Given the description of an element on the screen output the (x, y) to click on. 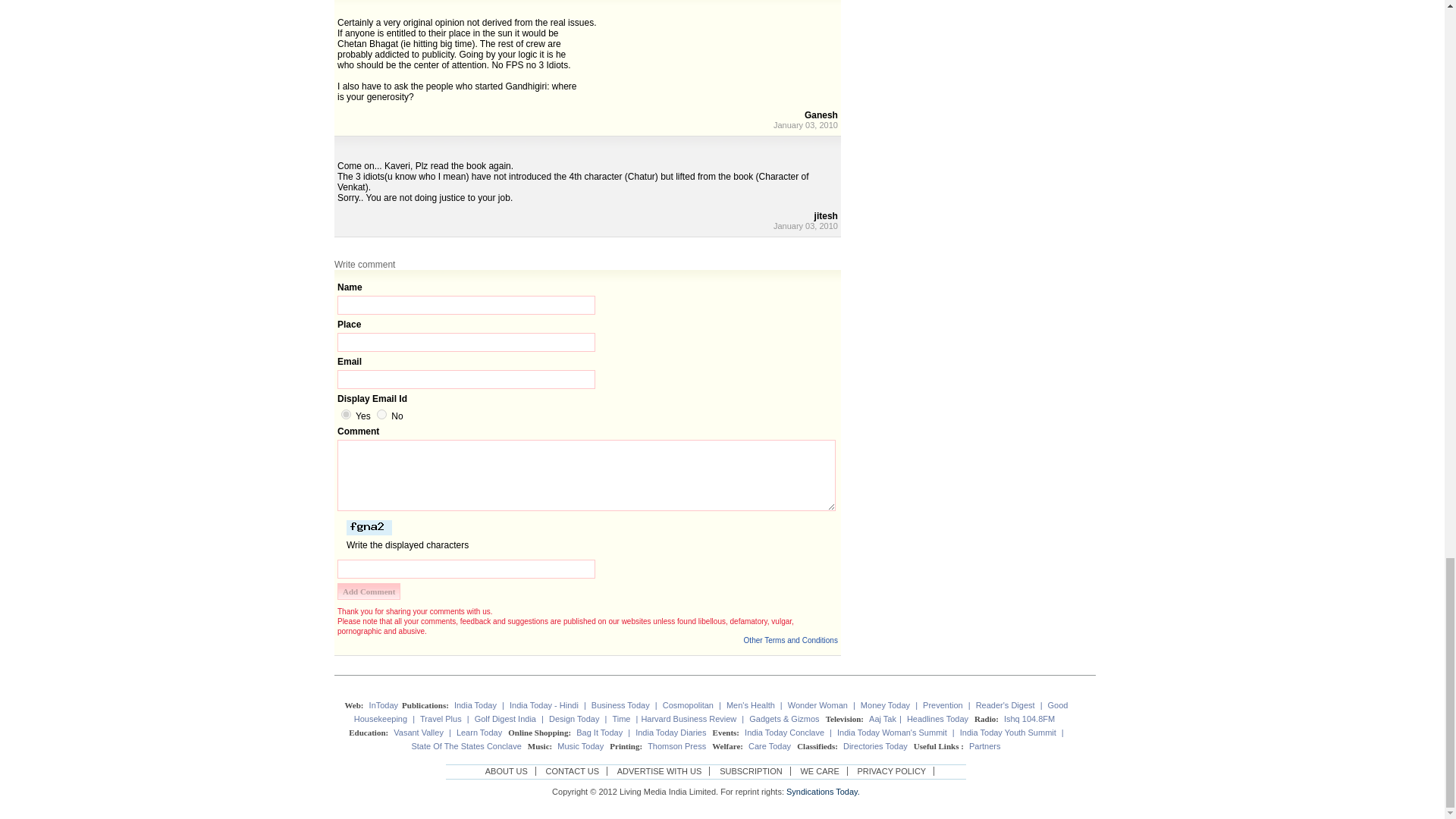
1 (345, 414)
0 (382, 414)
